Given the description of an element on the screen output the (x, y) to click on. 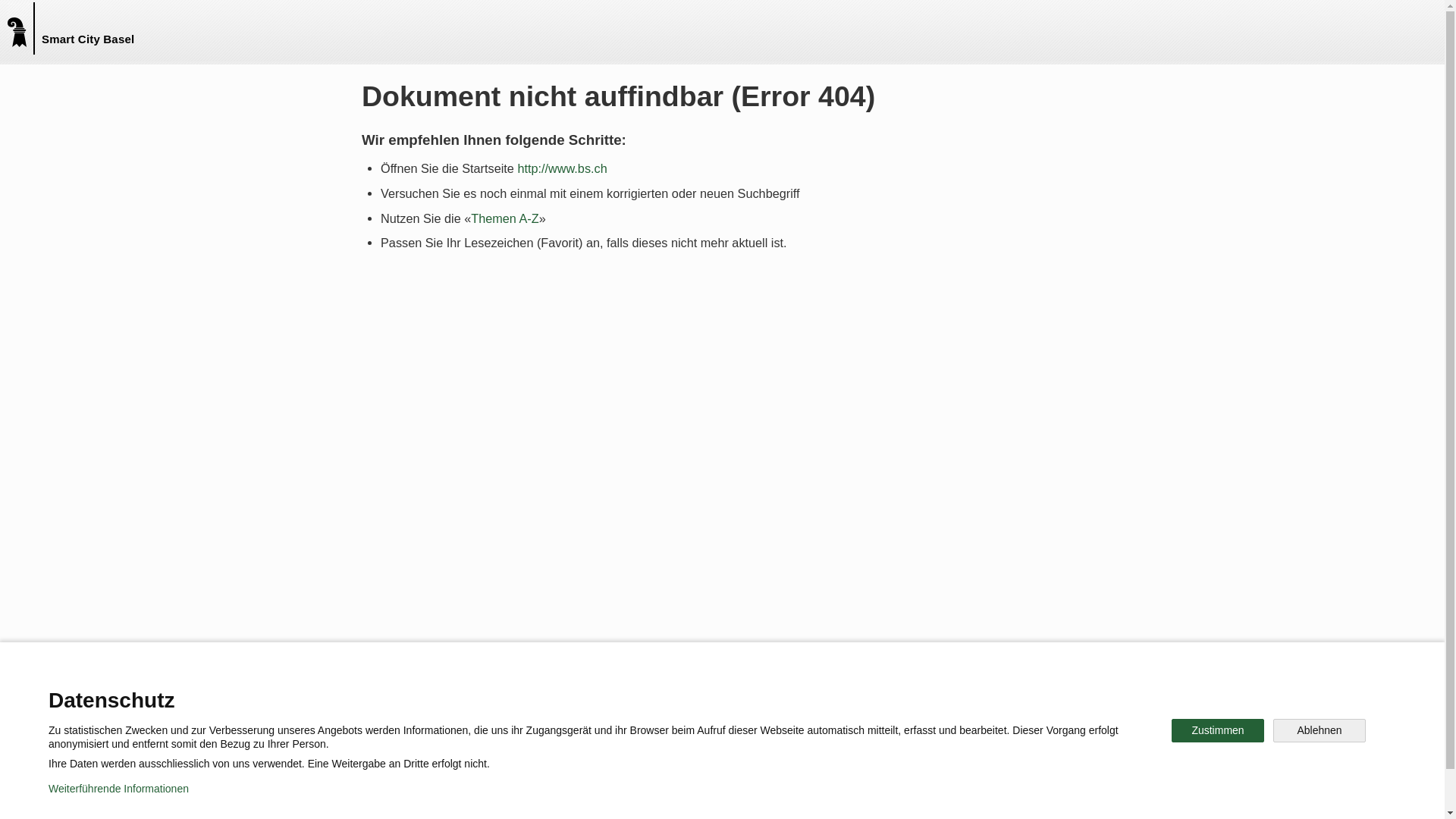
Impressum Element type: text (648, 796)
Ablehnen Element type: text (1319, 730)
Zustimmen Element type: text (1217, 730)
http://www.bs.ch Element type: text (561, 168)
Nutzungsregelungen Element type: text (542, 796)
Zur mobilen Ansicht Element type: text (752, 796)
Themen A-Z Element type: text (504, 217)
Smart City Basel Element type: text (24, 28)
